Given the description of an element on the screen output the (x, y) to click on. 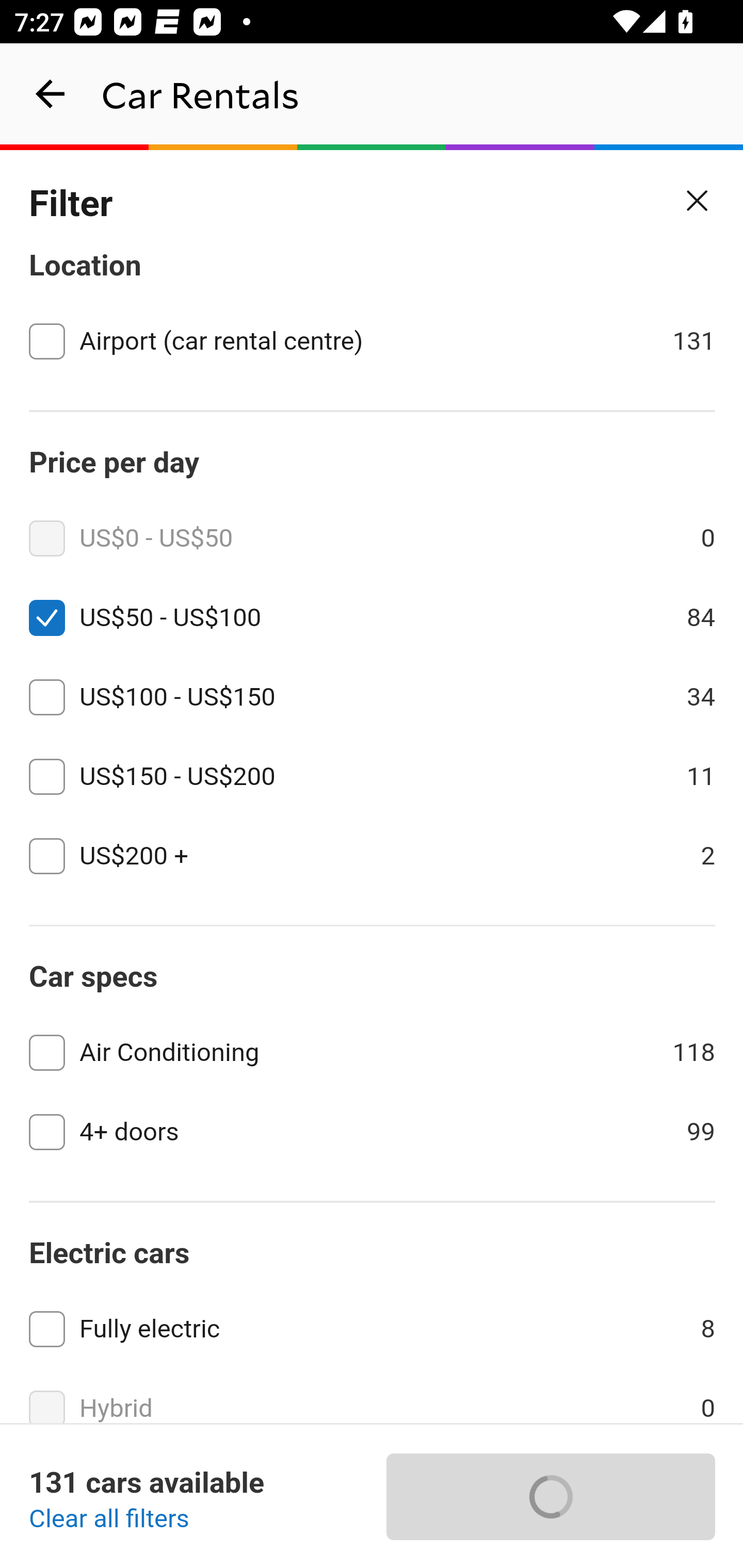
navigation_button (50, 93)
Close (697, 201)
Clear all filters (108, 1519)
